Given the description of an element on the screen output the (x, y) to click on. 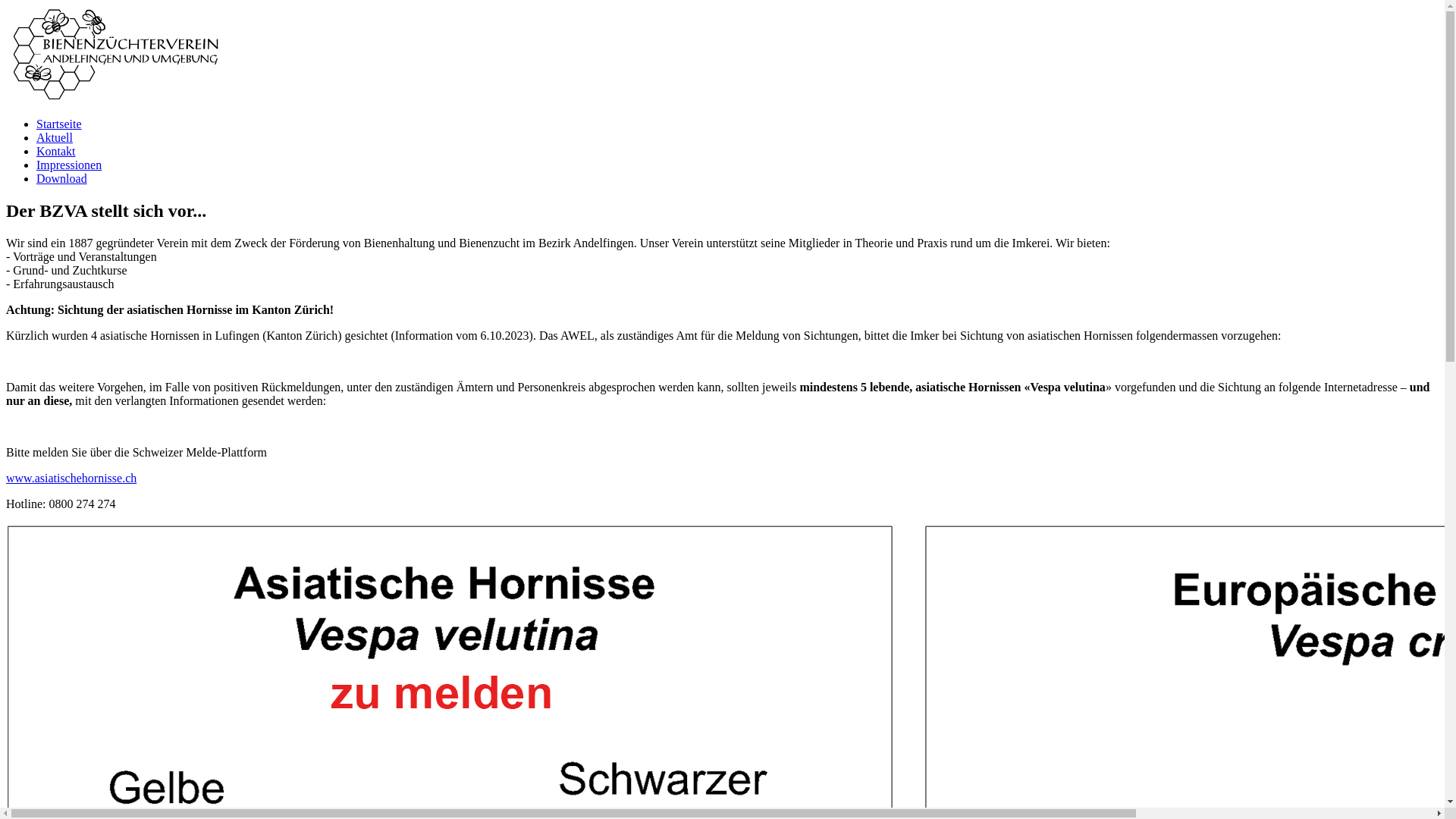
Impressionen Element type: text (68, 164)
Download Element type: text (61, 178)
Aktuell Element type: text (54, 137)
Startseite Element type: text (58, 123)
Kontakt Element type: text (55, 150)
www.asiatischehornisse.ch Element type: text (71, 477)
